Given the description of an element on the screen output the (x, y) to click on. 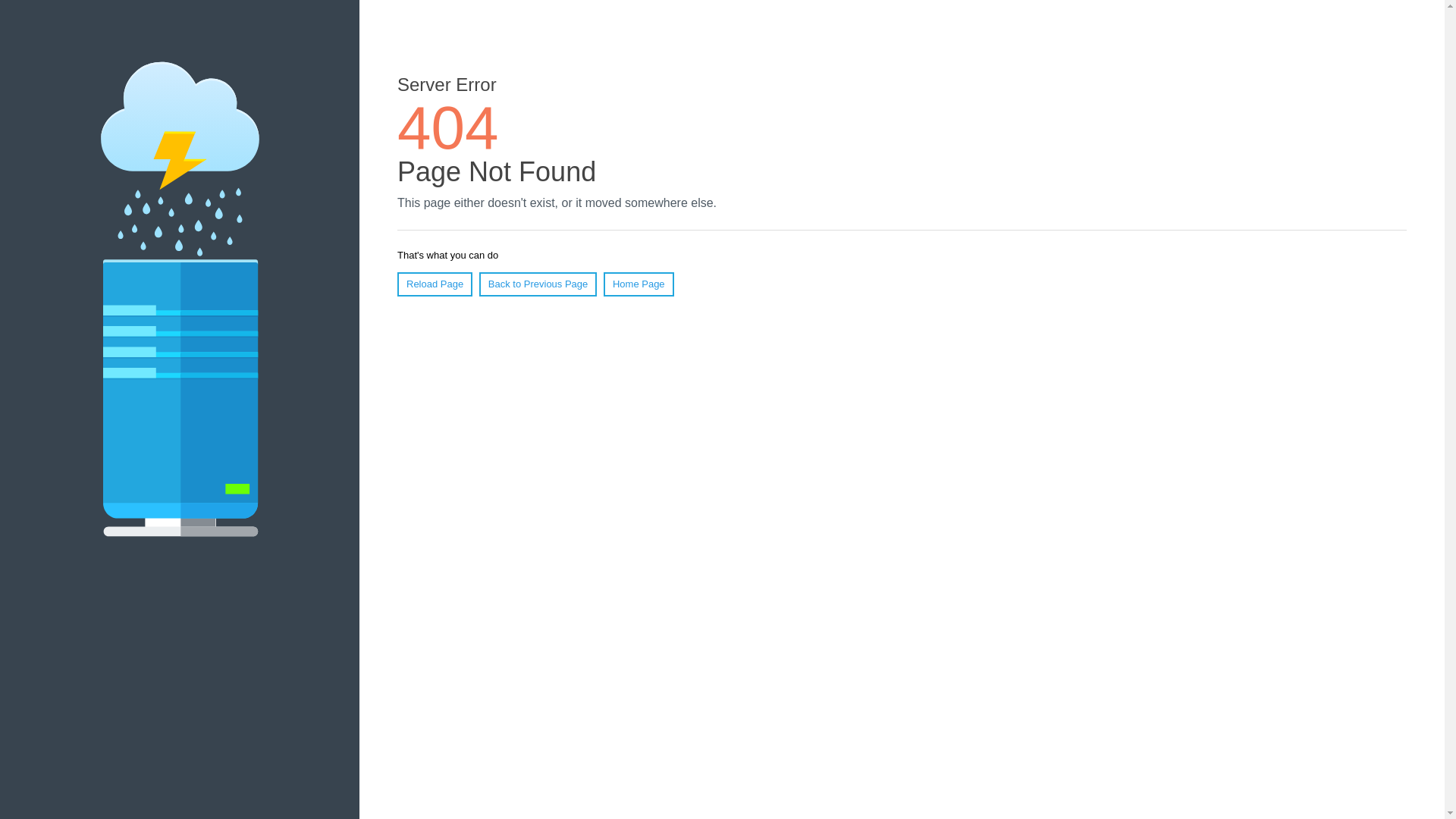
Back to Previous Page Element type: text (538, 284)
Home Page Element type: text (638, 284)
Reload Page Element type: text (434, 284)
